Given the description of an element on the screen output the (x, y) to click on. 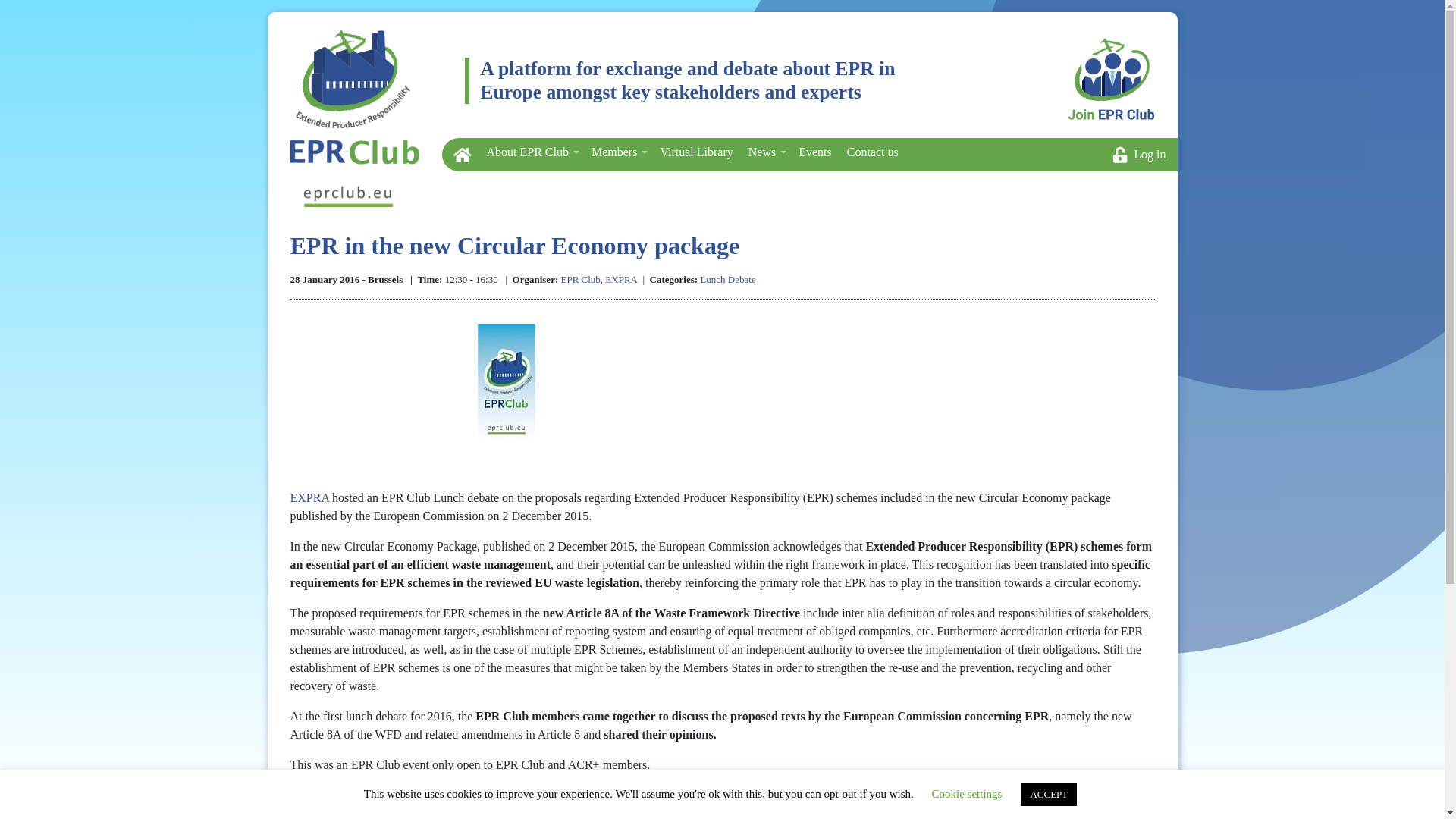
About EPR Club (531, 152)
News (765, 152)
EPR Club (579, 279)
Lunch Debate (727, 279)
Cookie settings (967, 793)
EXPRA (310, 497)
Log in (1140, 154)
Events (815, 152)
Virtual Library (695, 152)
